Given the description of an element on the screen output the (x, y) to click on. 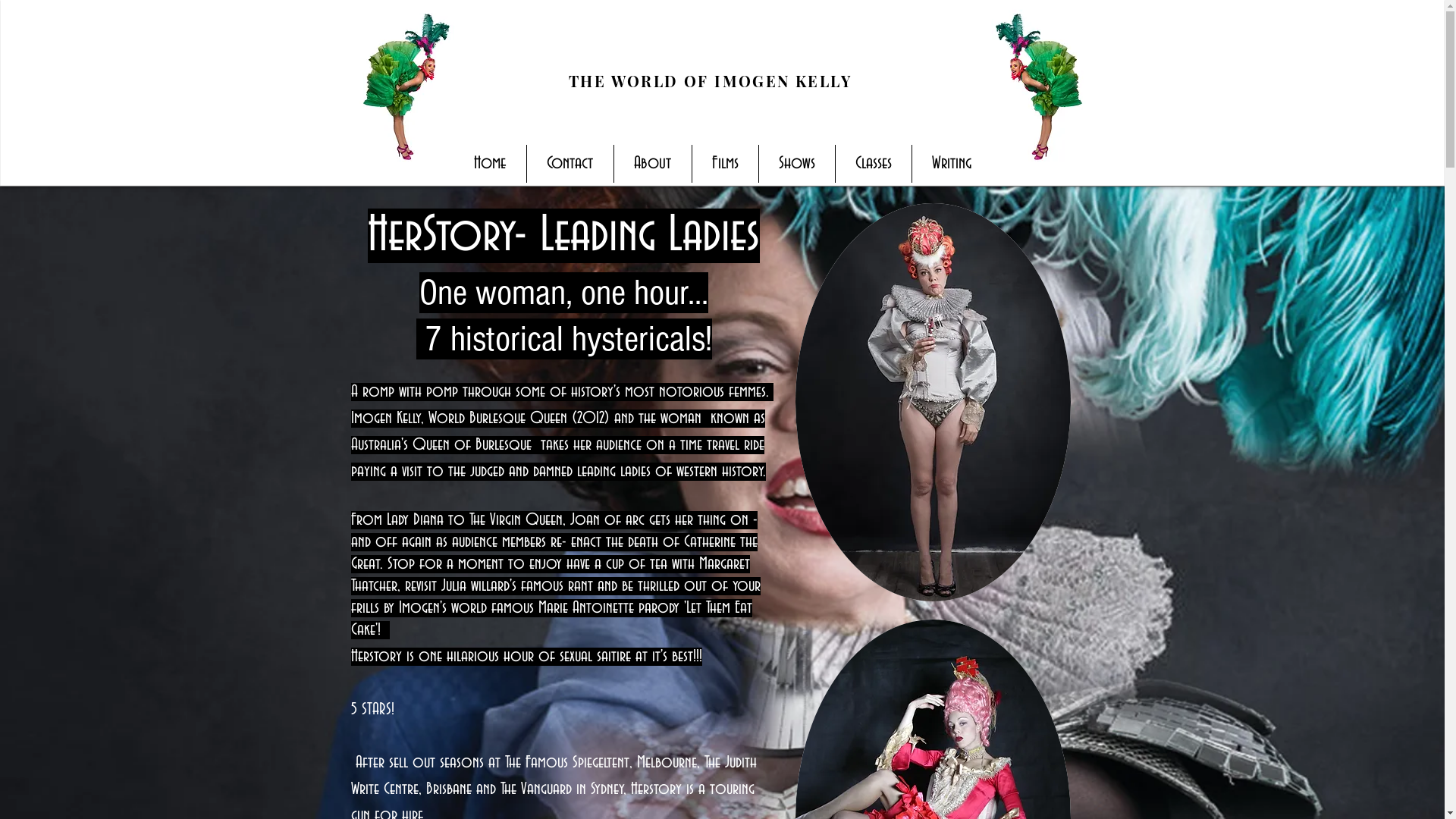
About Element type: text (652, 163)
Joel Green LGF Small 2_edited.jpg Element type: hover (407, 84)
Joel Green LGF Small 2.jpg Element type: hover (1036, 84)
Writing Element type: text (950, 163)
Home Element type: text (489, 163)
Classes Element type: text (873, 163)
Films Element type: text (724, 163)
Contact Element type: text (569, 163)
